Given the description of an element on the screen output the (x, y) to click on. 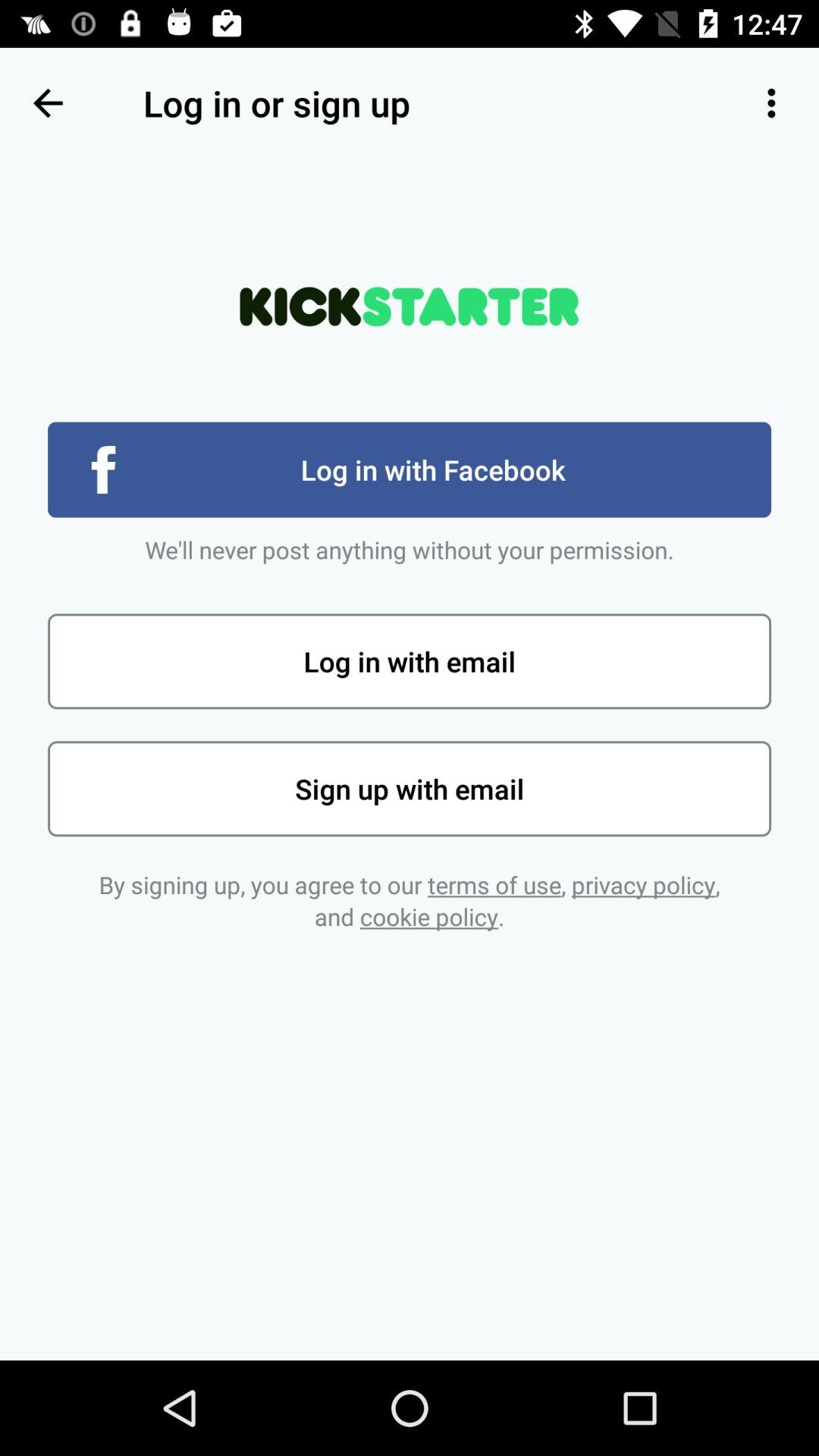
open item below sign up with (409, 900)
